Given the description of an element on the screen output the (x, y) to click on. 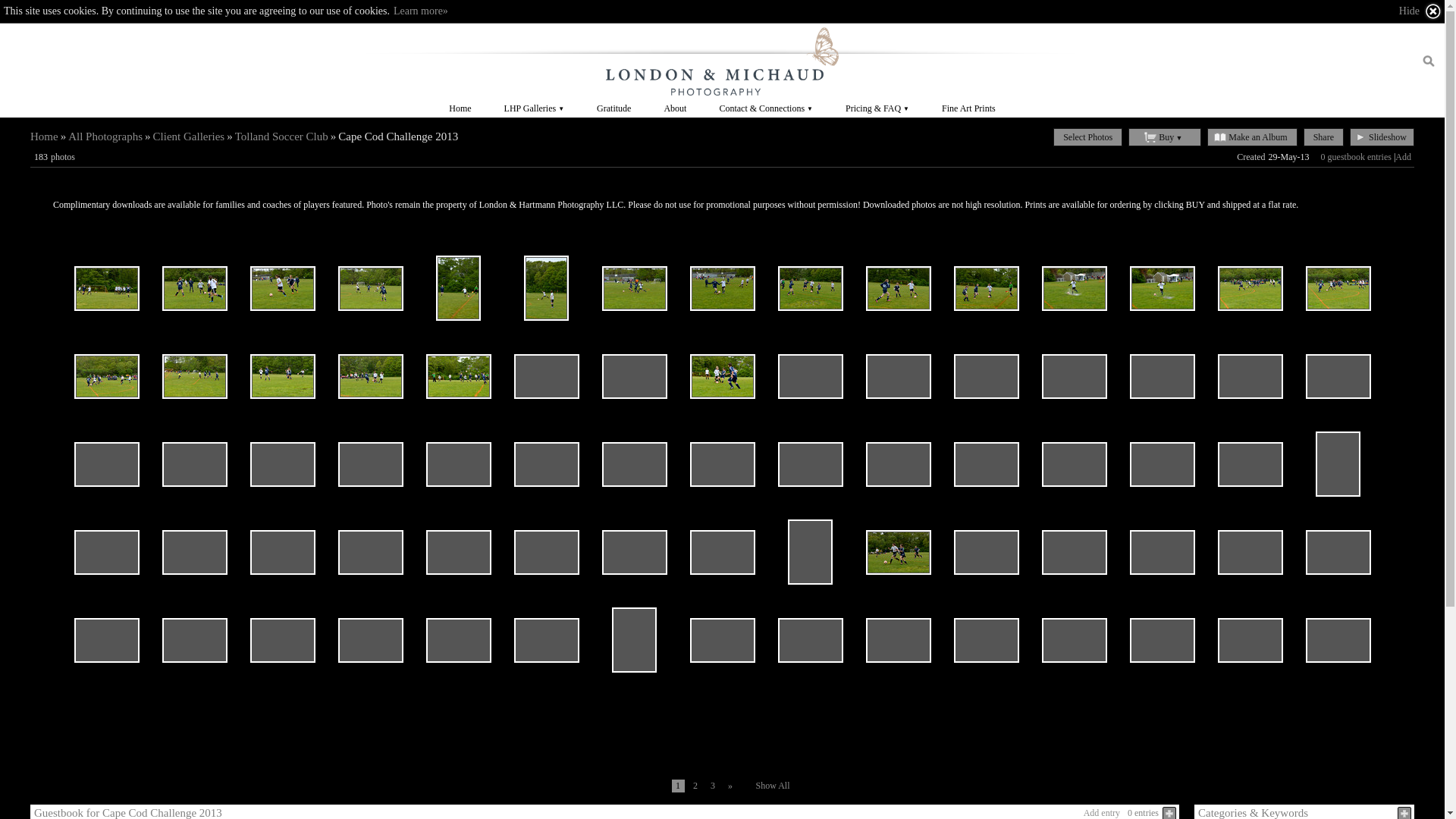
Home (44, 136)
Fine Art Prints (968, 108)
About (674, 108)
Gratitude (613, 108)
Hide (1420, 11)
Home (459, 108)
